Given the description of an element on the screen output the (x, y) to click on. 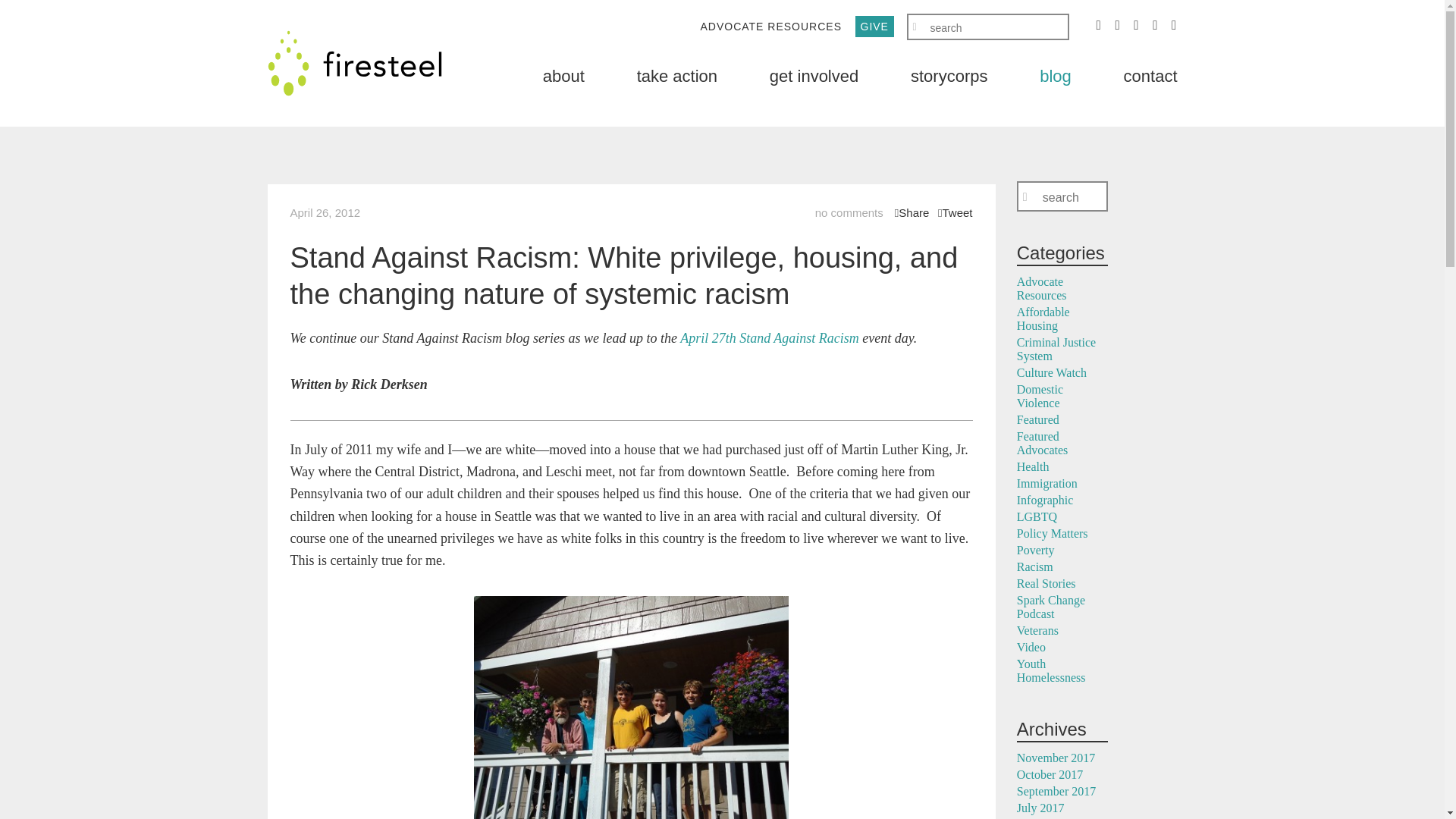
storycorps (949, 75)
about (564, 75)
Domestic Violence (1039, 396)
contact (1150, 75)
take action (677, 75)
Criminal Justice System (1056, 348)
April 27th Stand Against Racism (769, 337)
Advocate Resources (1041, 288)
Policy Matters (1051, 533)
ADVOCATE RESOURCES (770, 25)
Immigration (1046, 482)
